Given the description of an element on the screen output the (x, y) to click on. 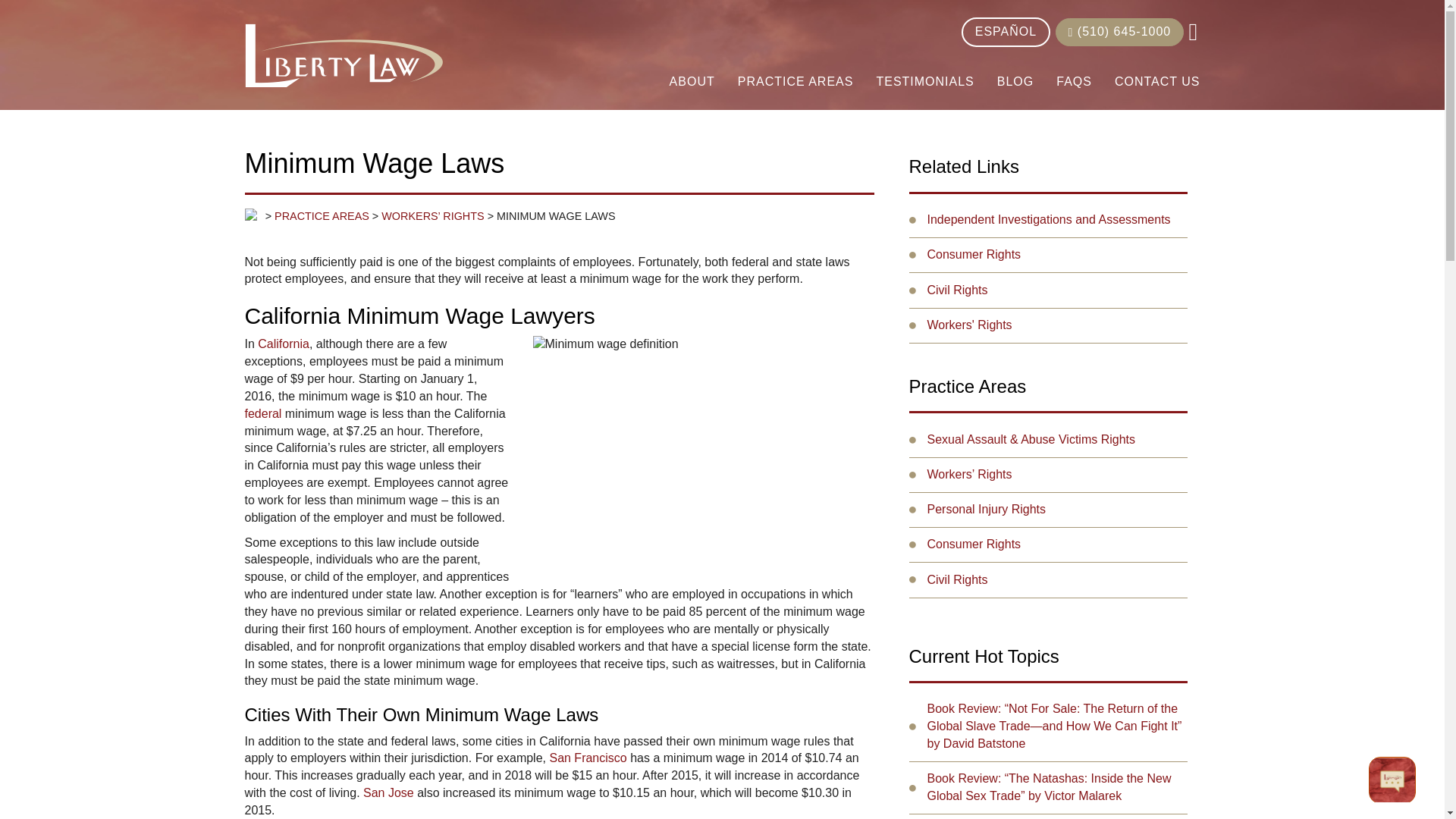
FAQS (1074, 82)
BLOG (1015, 82)
San Jose (387, 792)
Consumer Rights (973, 254)
TESTIMONIALS (924, 82)
San Francisco (587, 757)
Personal Injury Rights (985, 508)
CONTACT US (1151, 82)
ABOUT (692, 82)
Civil Rights (956, 579)
